Given the description of an element on the screen output the (x, y) to click on. 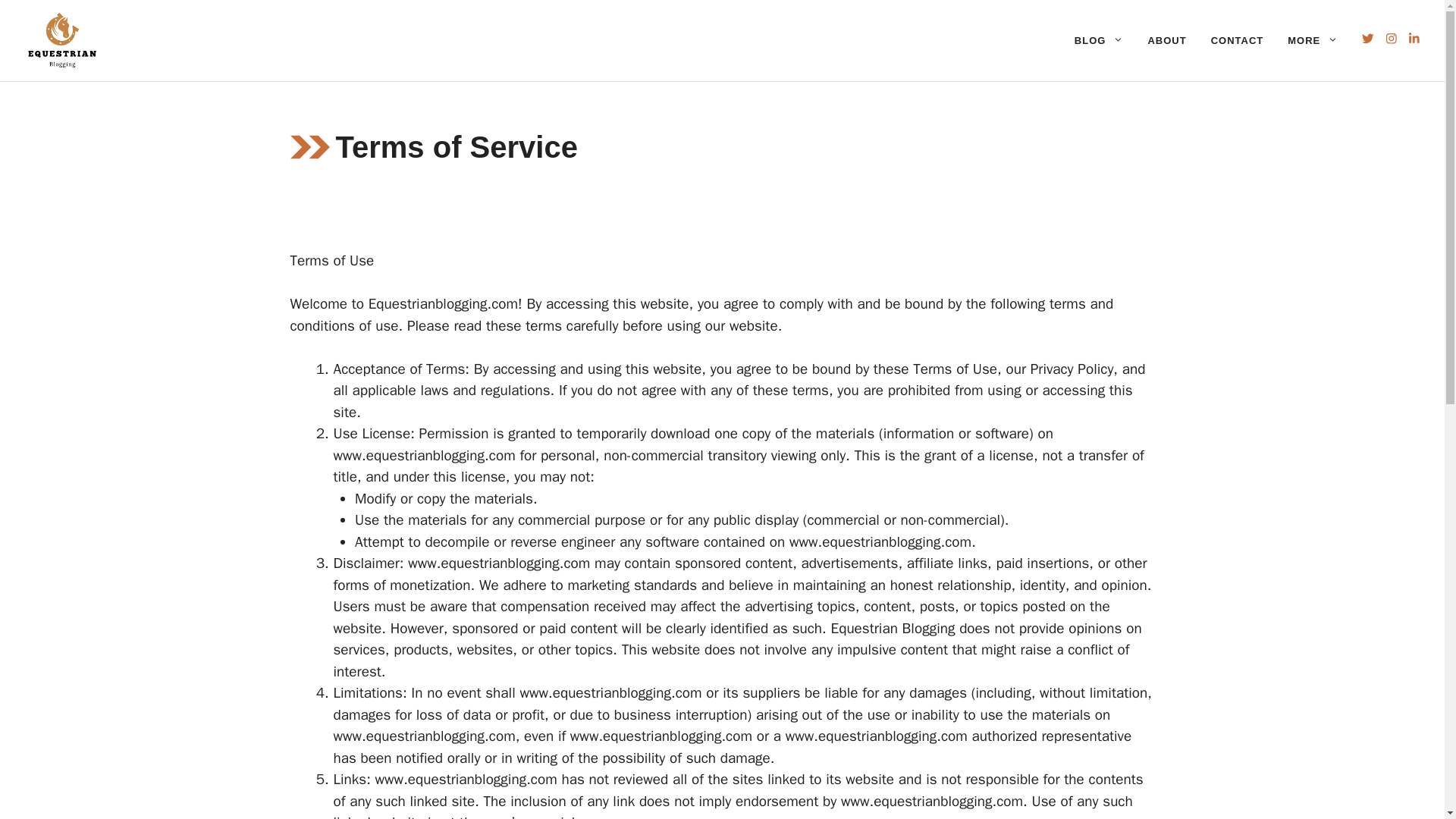
www.equestrianblogging.com (661, 736)
www.equestrianblogging.com (498, 563)
www.equestrianblogging.com (932, 801)
www.equestrianblogging.com (610, 692)
www.equestrianblogging.com (424, 736)
CONTACT (1237, 40)
ABOUT (1166, 40)
MORE (1312, 40)
www.equestrianblogging.com (880, 542)
www.equestrianblogging.com (466, 779)
BLOG (1098, 40)
www.equestrianblogging.com (877, 736)
Equestrianblogging.com (443, 303)
www.equestrianblogging.com (424, 455)
